Given the description of an element on the screen output the (x, y) to click on. 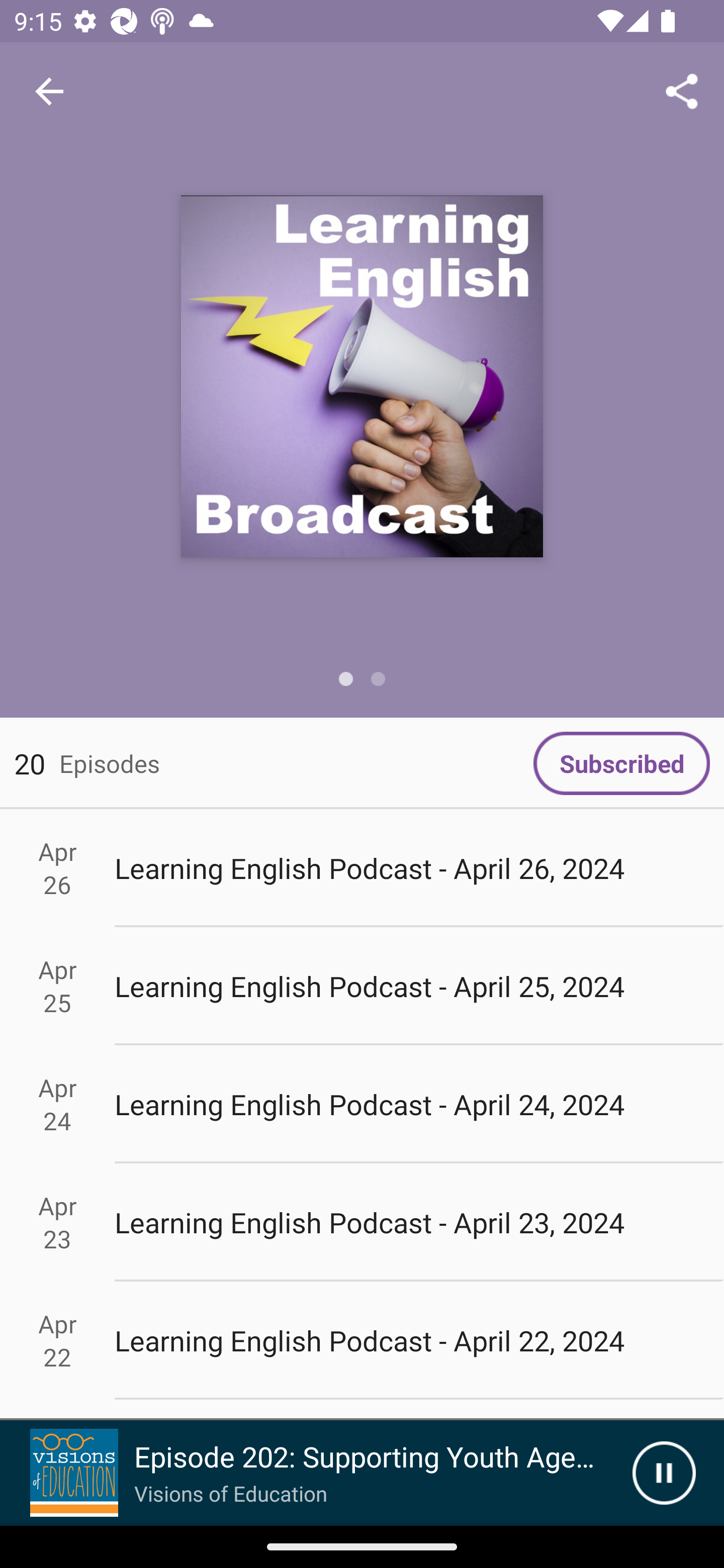
Navigate up (49, 91)
Share... (681, 90)
Subscribed (621, 763)
Apr 26 Learning English Podcast - April 26, 2024 (362, 867)
Apr 25 Learning English Podcast - April 25, 2024 (362, 985)
Apr 24 Learning English Podcast - April 24, 2024 (362, 1104)
Apr 23 Learning English Podcast - April 23, 2024 (362, 1222)
Apr 22 Learning English Podcast - April 22, 2024 (362, 1340)
Pause (663, 1472)
